Given the description of an element on the screen output the (x, y) to click on. 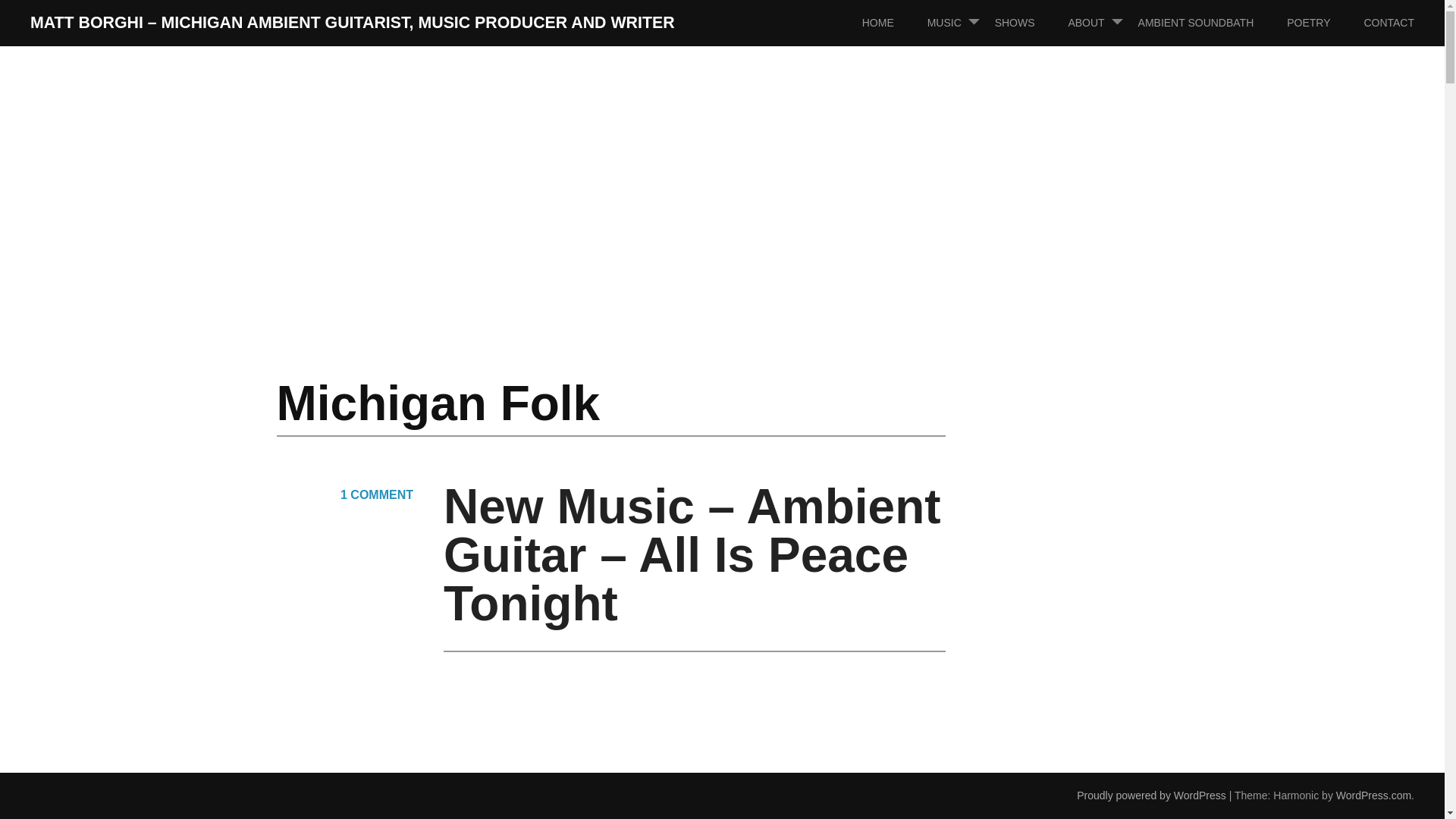
POETRY (1323, 22)
1 COMMENT (376, 494)
AMBIENT SOUNDBATH (1211, 22)
YouTube video player (655, 750)
MUSIC (959, 22)
SHOWS (1029, 22)
HOME (892, 22)
ABOUT (1100, 22)
